Given the description of an element on the screen output the (x, y) to click on. 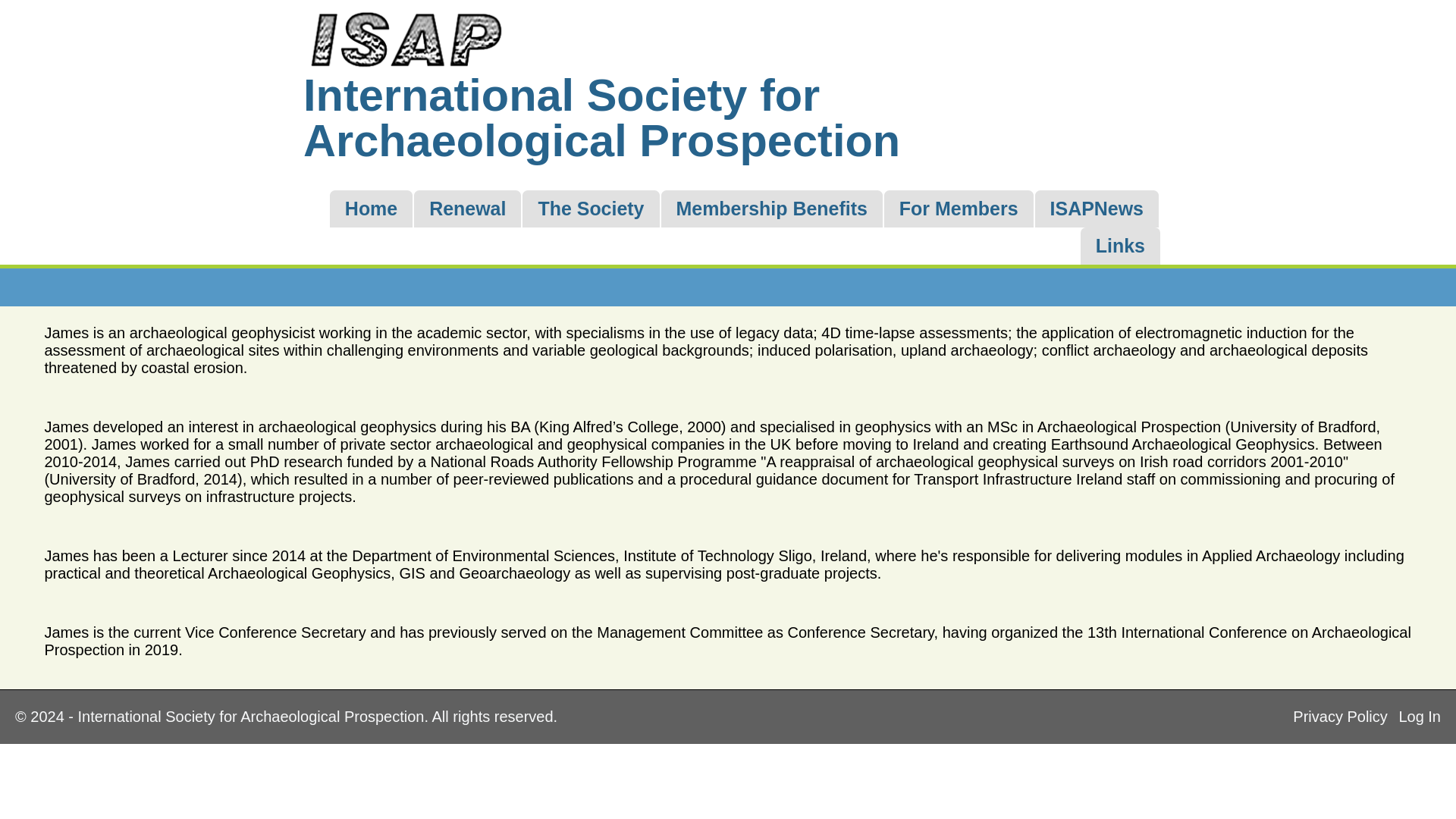
Membership Benefits (771, 208)
ISAPNews (1096, 208)
Links (1120, 245)
Home (371, 208)
The Society (590, 208)
For Members (958, 208)
Renewal (467, 208)
